Given the description of an element on the screen output the (x, y) to click on. 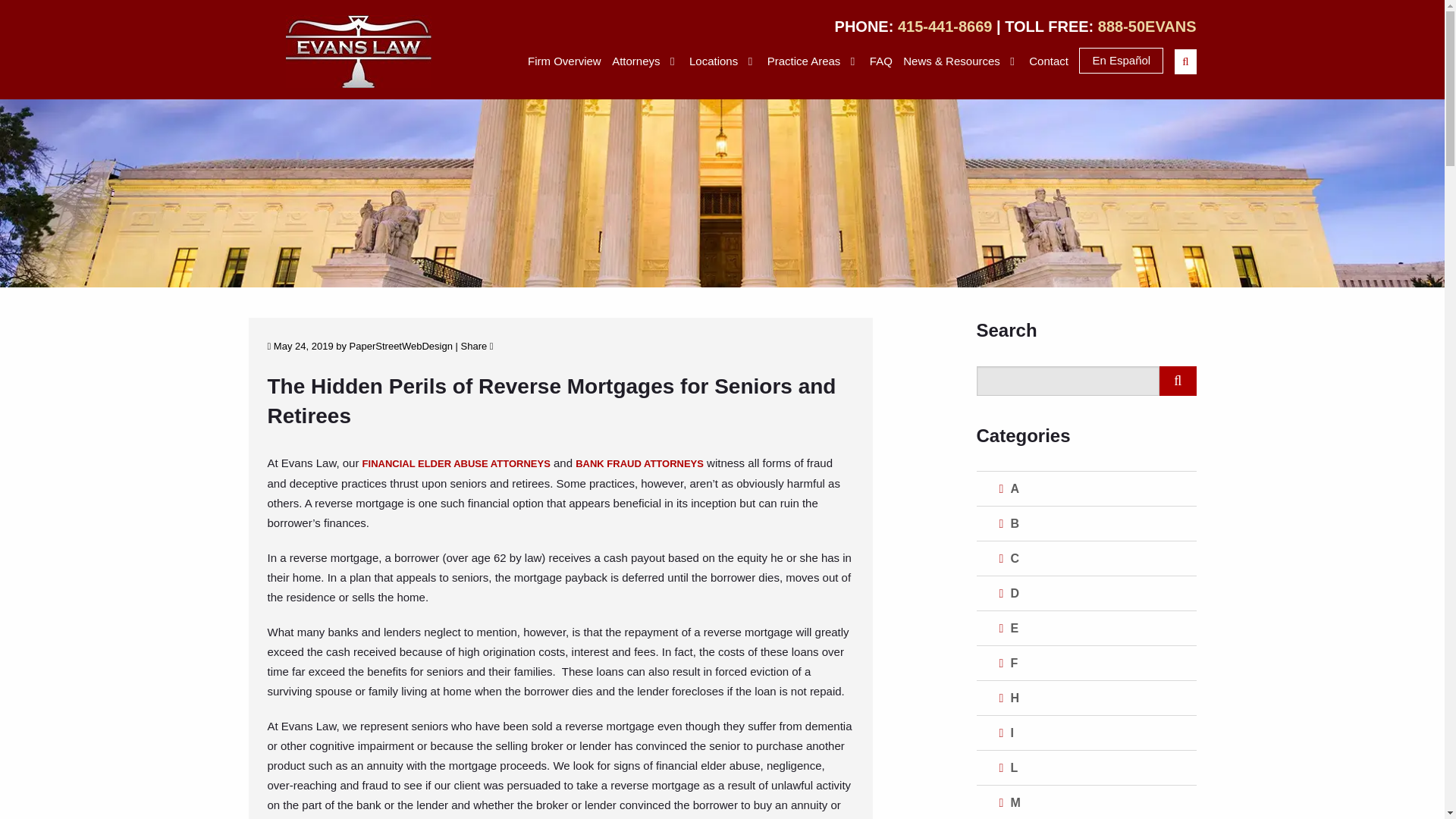
Posts by PaperStreetWebDesign (400, 346)
